Given the description of an element on the screen output the (x, y) to click on. 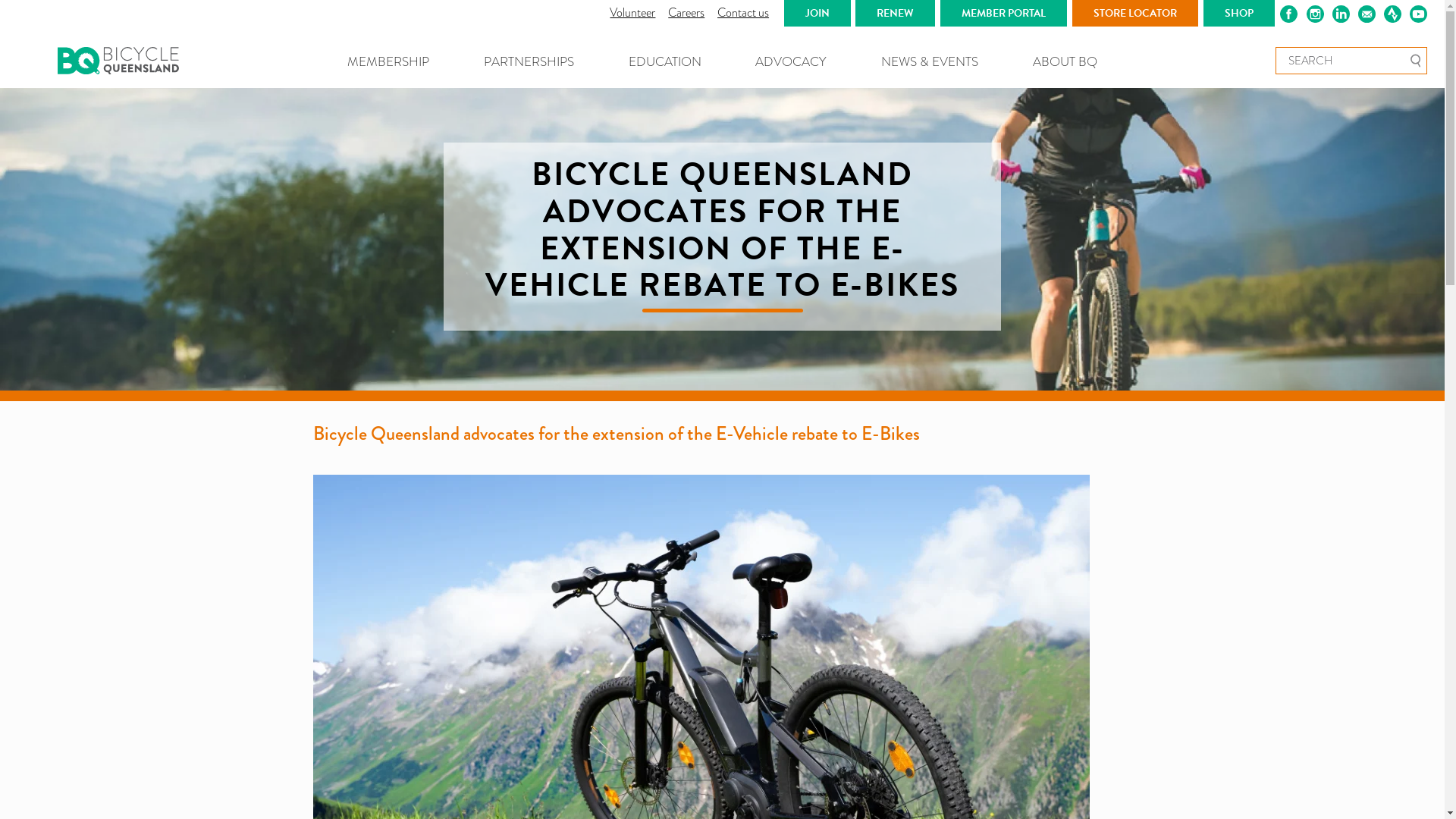
ABOUT BQ Element type: text (1064, 61)
JOIN Element type: text (817, 13)
Careers Element type: text (686, 12)
Search Element type: text (1415, 60)
STORE LOCATOR Element type: text (1135, 13)
MEMBER PORTAL Element type: text (1003, 13)
RENEW Element type: text (895, 13)
MEMBERSHIP Element type: text (388, 61)
NEWS & EVENTS Element type: text (929, 61)
Volunteer Element type: text (632, 12)
ADVOCACY Element type: text (790, 61)
EDUCATION Element type: text (664, 61)
PARTNERSHIPS Element type: text (528, 61)
SHOP Element type: text (1238, 13)
Contact us Element type: text (742, 12)
